Given the description of an element on the screen output the (x, y) to click on. 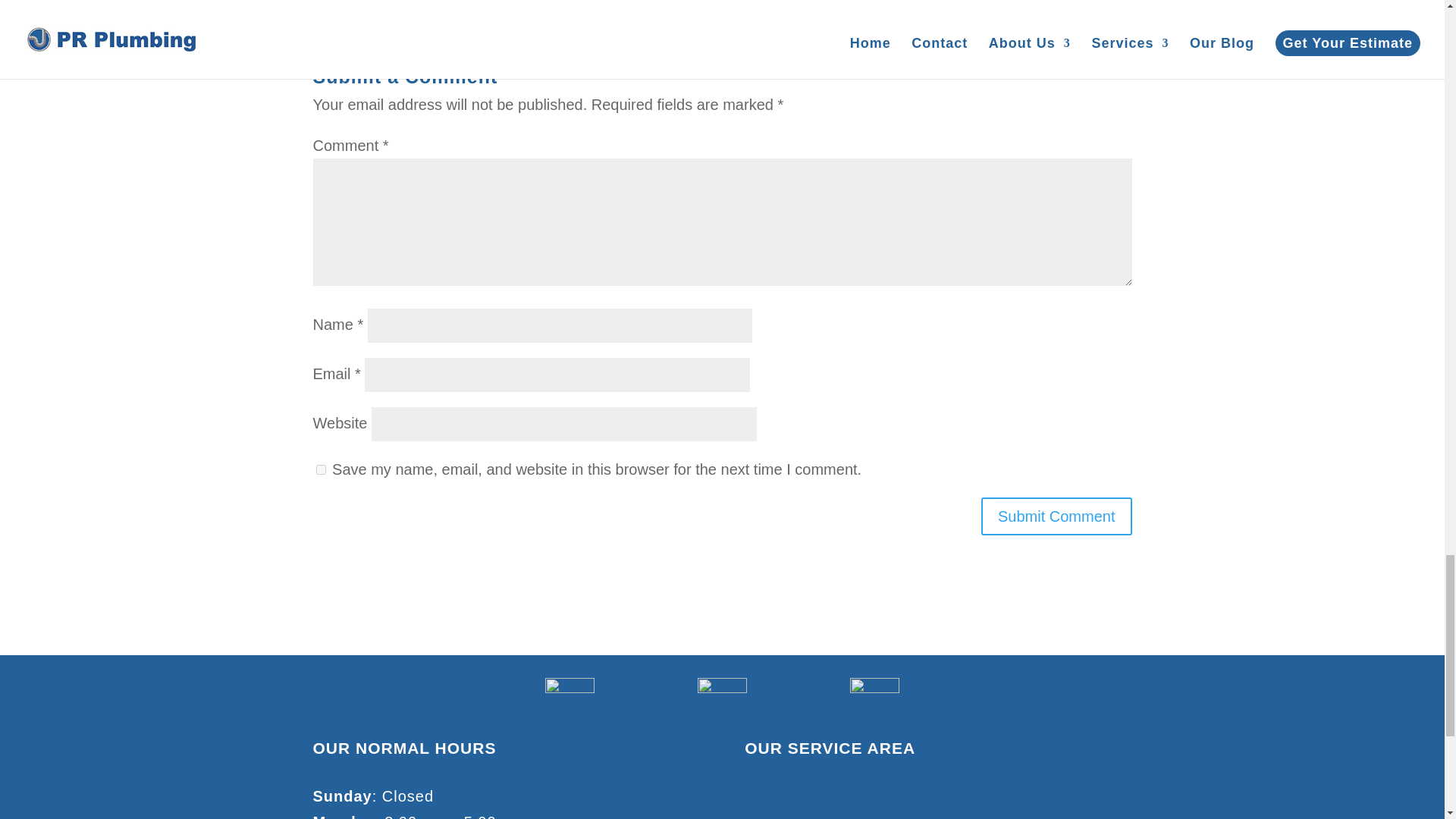
Submit Comment (1056, 516)
Submit Comment (1056, 516)
yes (319, 470)
PR Plumbing Google.jpg (569, 702)
